Given the description of an element on the screen output the (x, y) to click on. 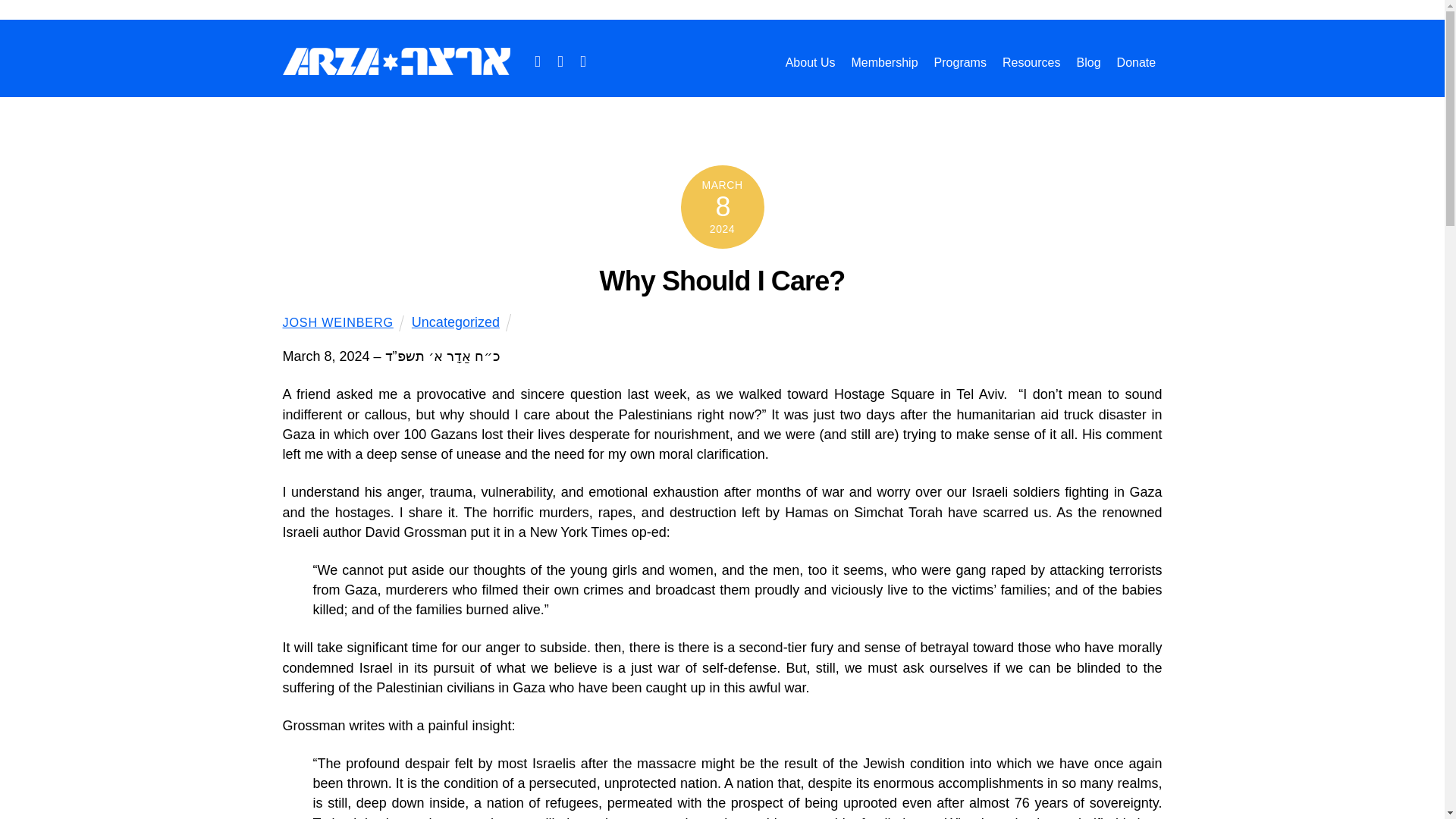
JOSH WEINBERG (337, 322)
Donate (1136, 62)
navyLogoText (395, 61)
Uncategorized (455, 322)
Membership (885, 62)
Programs (960, 62)
About Us (810, 62)
Resources (1031, 62)
ARZA (395, 67)
